Given the description of an element on the screen output the (x, y) to click on. 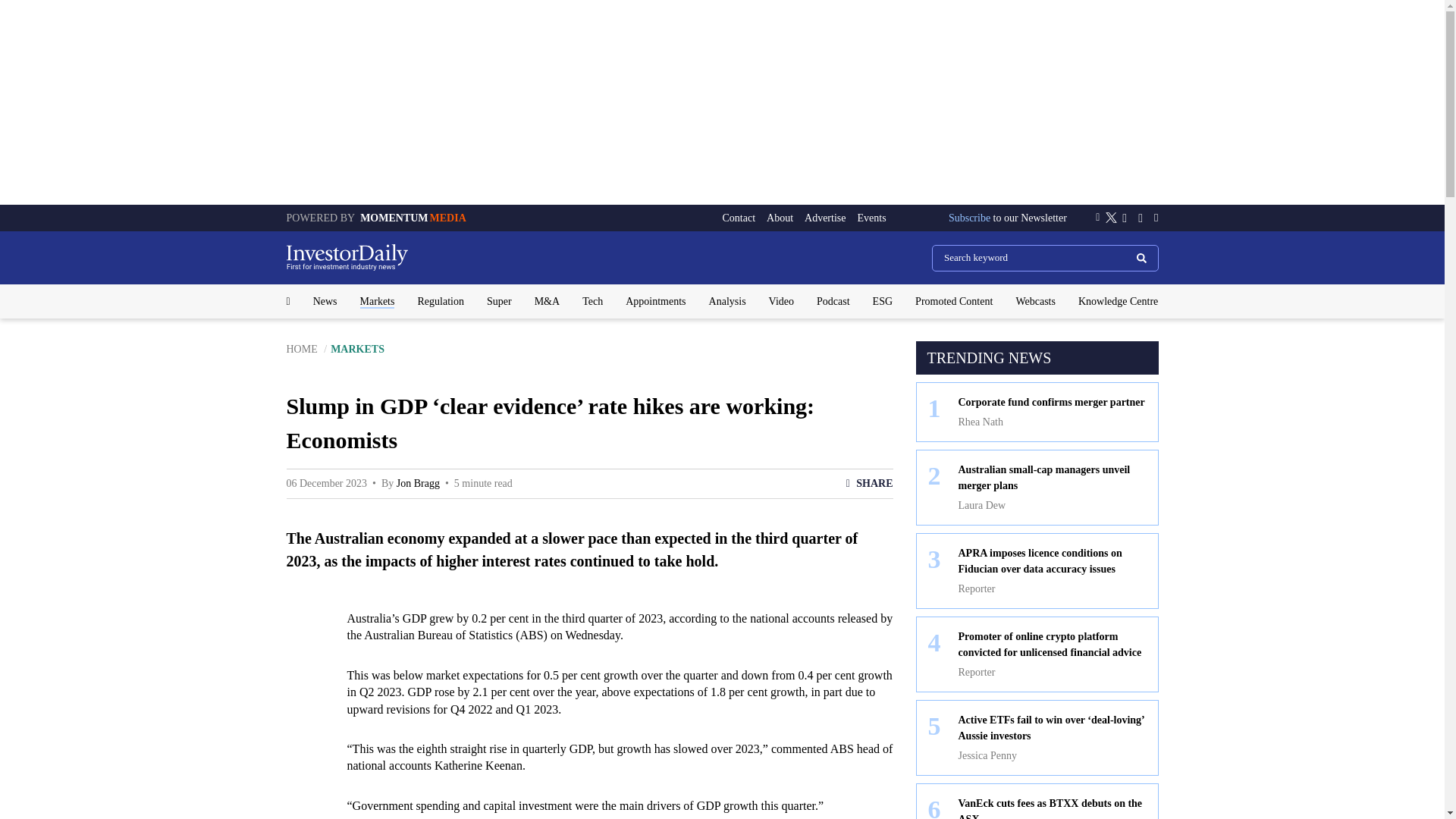
About (780, 217)
POWERED BY MOMENTUM MEDIA (375, 216)
Advertise (825, 217)
Contact (738, 217)
